Given the description of an element on the screen output the (x, y) to click on. 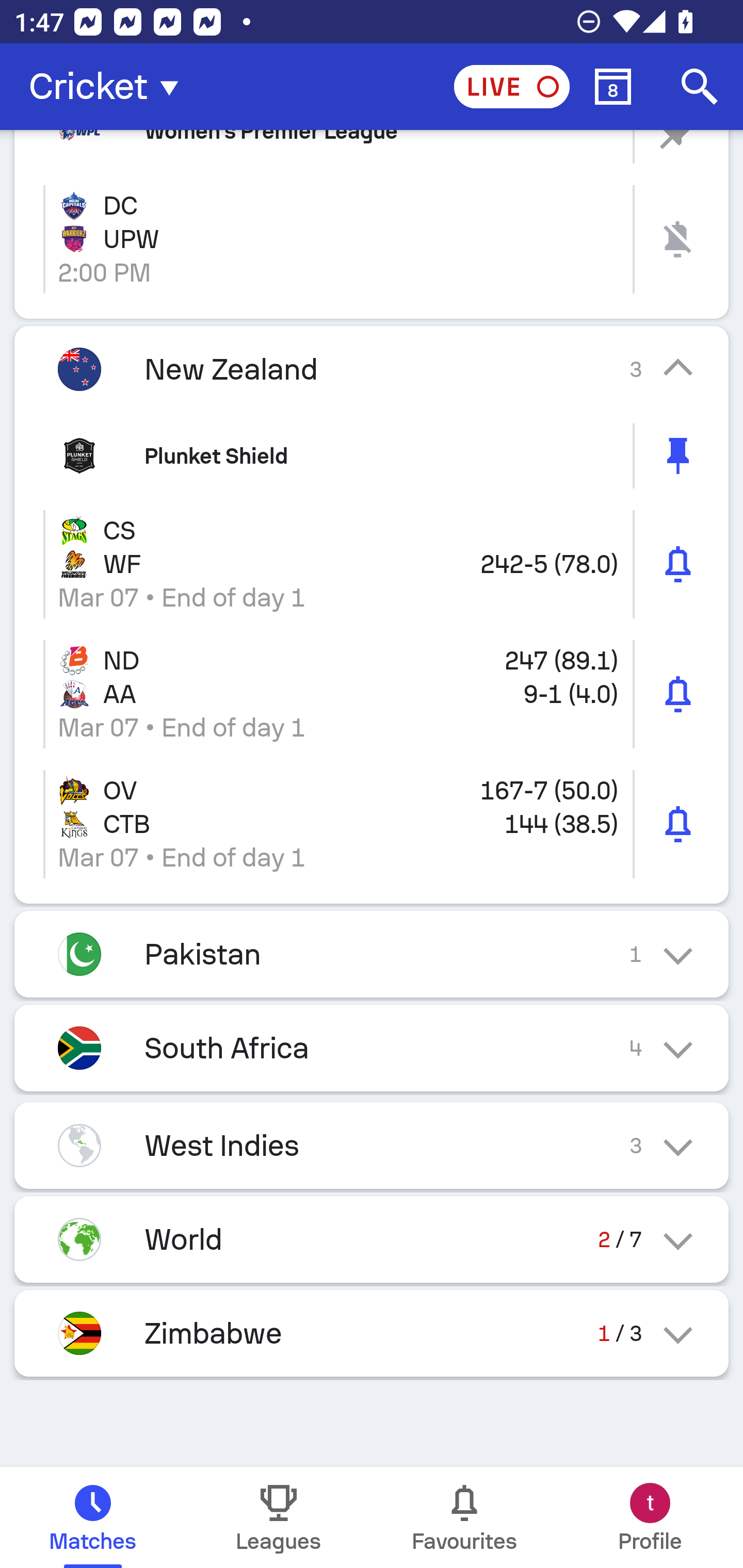
Cricket (109, 86)
Calendar (612, 86)
Search (699, 86)
DC UPW 2:00 PM (371, 239)
New Zealand 3 (371, 369)
Plunket Shield (371, 455)
CS WF 242-5 (78.0) Mar 07 • End of day 1 (371, 563)
ND 247 (89.1) AA 9-1 (4.0) Mar 07 • End of day 1 (371, 693)
Pakistan 1 (371, 954)
South Africa 4 (371, 1048)
West Indies 3 (371, 1145)
World 2 / 7 (371, 1239)
Zimbabwe 1 / 3 (371, 1333)
Leagues (278, 1517)
Favourites (464, 1517)
Profile (650, 1517)
